Given the description of an element on the screen output the (x, y) to click on. 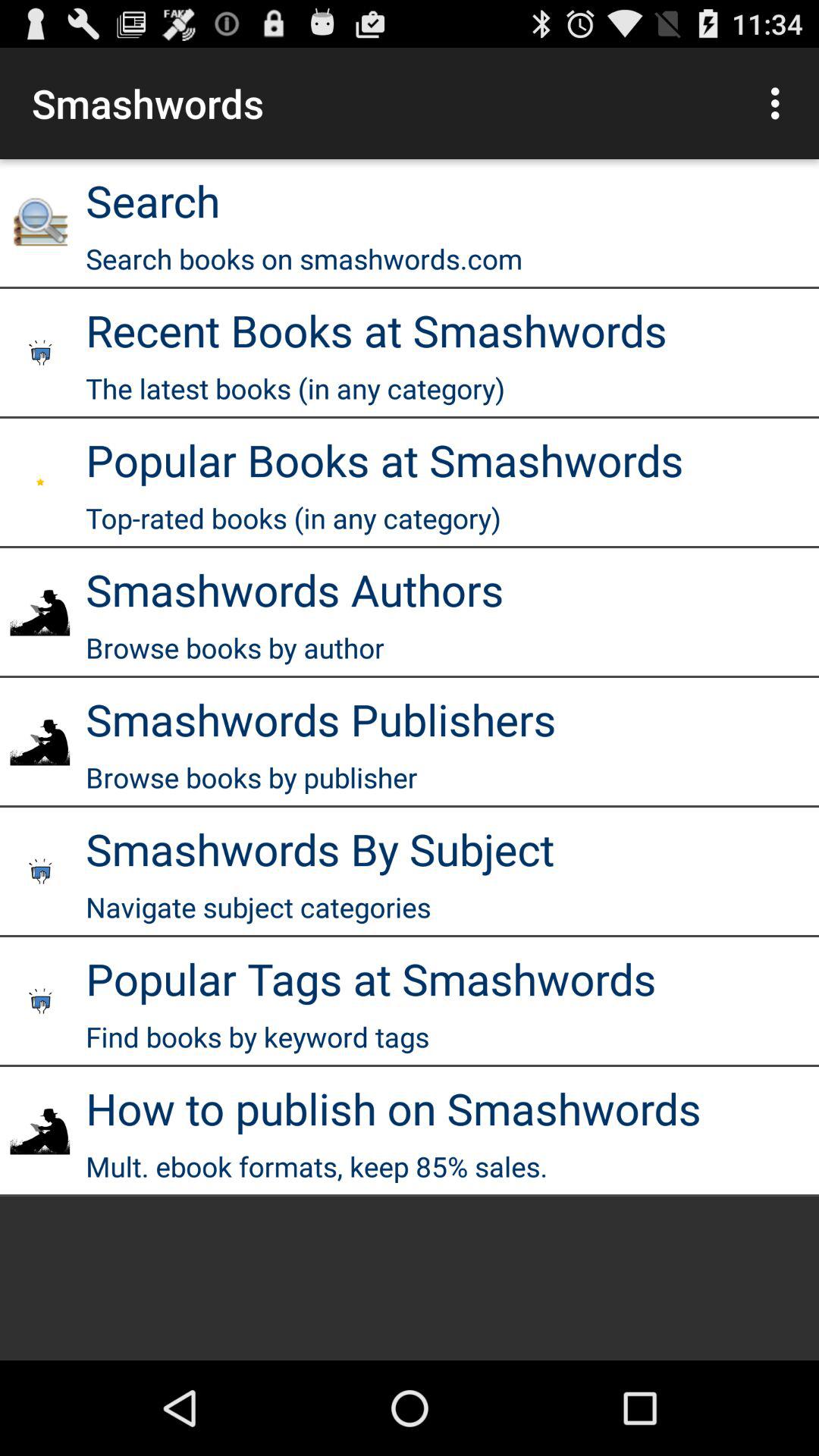
jump until smashwords by subject item (319, 848)
